Given the description of an element on the screen output the (x, y) to click on. 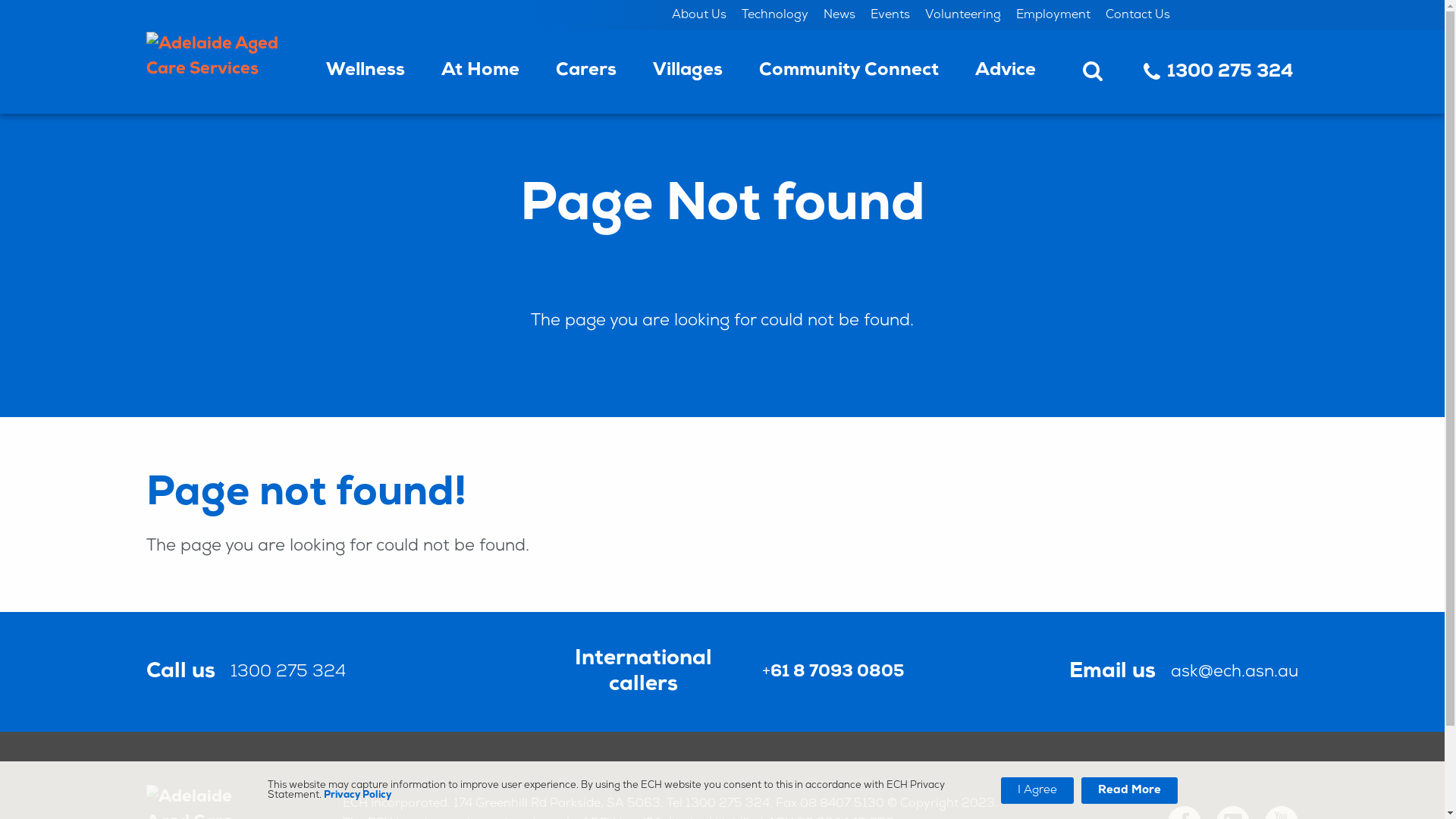
Wellness Element type: text (365, 71)
Privacy Policy Element type: text (356, 795)
Technology Element type: text (774, 15)
Events Element type: text (890, 15)
Community Connect Element type: text (848, 71)
Read More Element type: text (1129, 789)
News Element type: text (839, 15)
Villages Element type: text (687, 71)
About Us Element type: text (698, 15)
1300 275 324 Element type: text (287, 671)
1300 275 324 Element type: text (1214, 71)
Advice Element type: text (1005, 71)
Employment Element type: text (1053, 15)
At Home Element type: text (480, 71)
+61 8 7093 0805 Element type: text (832, 671)
ask@ech.asn.au Element type: text (1234, 671)
Contact Us Element type: text (1137, 15)
I Agree Element type: text (1037, 789)
Volunteering Element type: text (963, 15)
Carers Element type: text (585, 71)
